Given the description of an element on the screen output the (x, y) to click on. 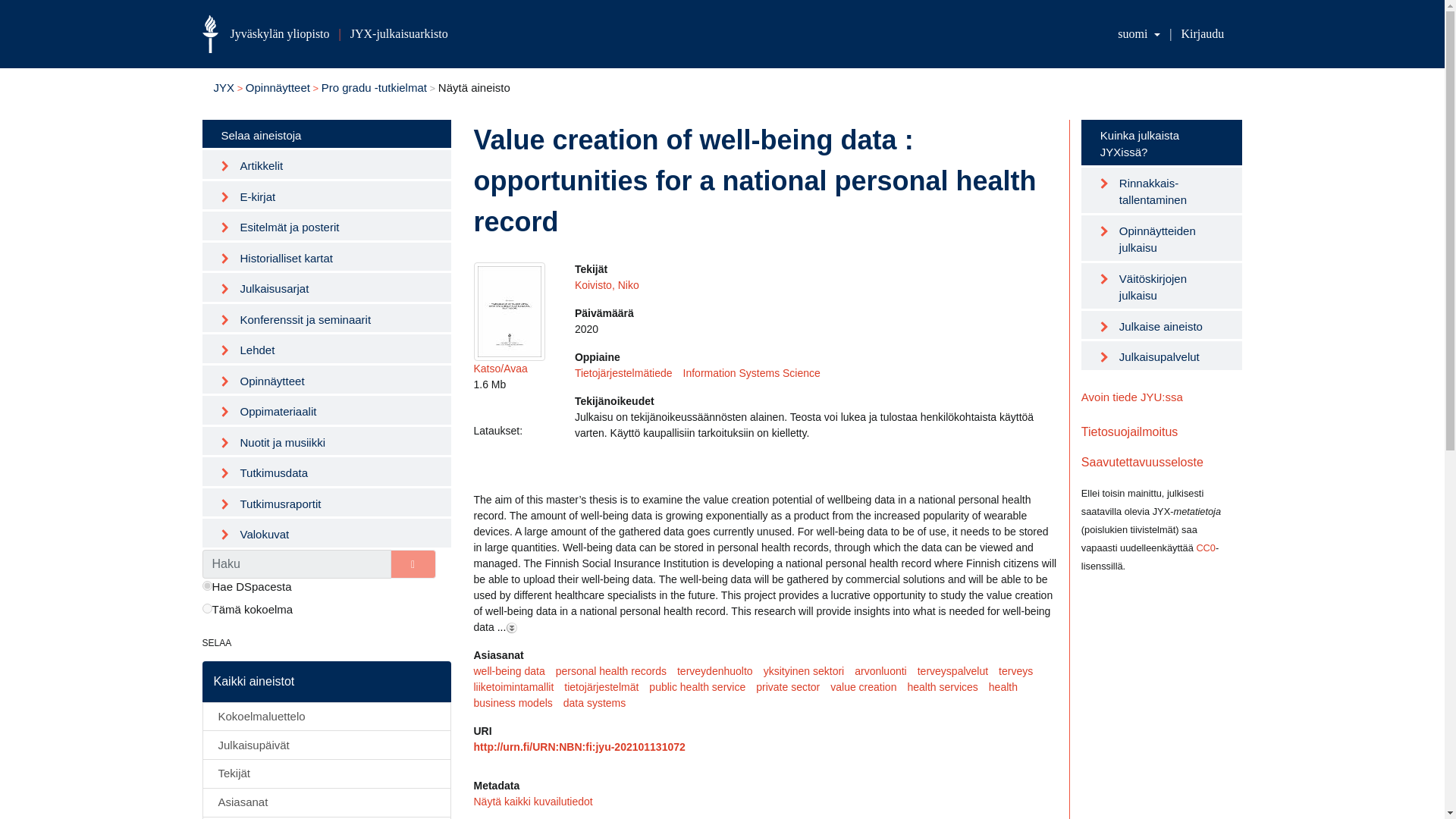
terveydenhuolto (719, 670)
Information Systems Science (756, 372)
terveys (1020, 670)
JYX (224, 87)
personal health records (616, 670)
arvonluonti (885, 670)
Kirjaudu (1202, 33)
Koivisto, Niko (607, 285)
URN:NBN:fi:jyu-202101131072.pdf (508, 311)
well-being data (513, 670)
public health service (702, 687)
private sector (792, 687)
suomi  (1139, 33)
value creation (868, 687)
yksityinen sektori (809, 670)
